Given the description of an element on the screen output the (x, y) to click on. 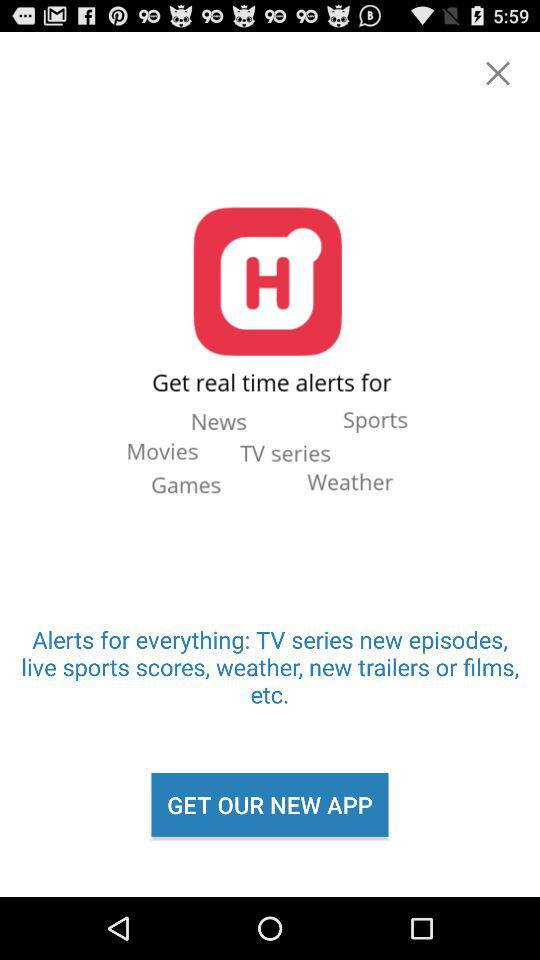
cancel page (498, 73)
